Given the description of an element on the screen output the (x, y) to click on. 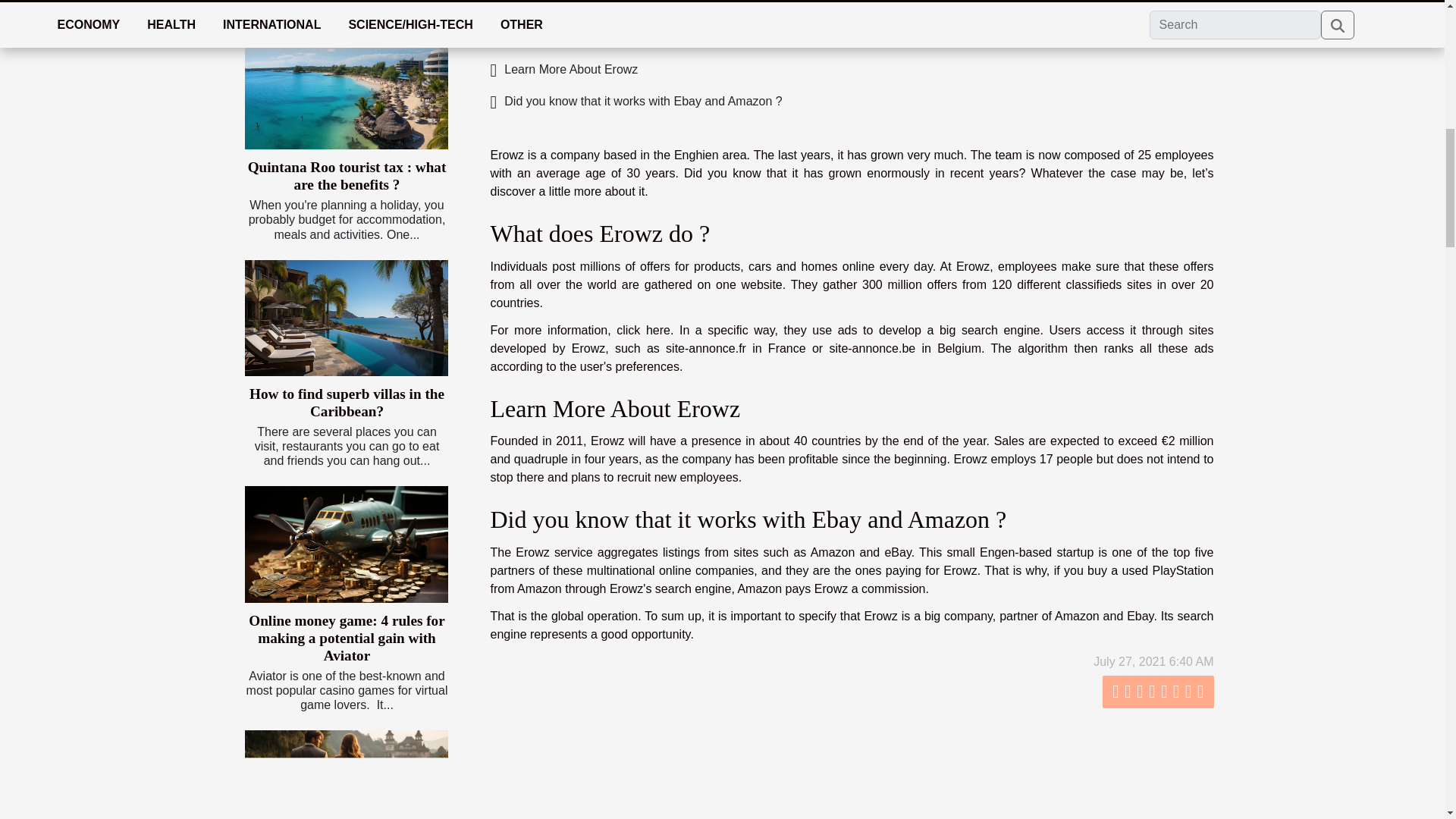
What does Erowz do ? (557, 37)
Quintana Roo tourist tax : what are the benefits ? (345, 91)
Did you know that it works with Ebay and Amazon ? (635, 101)
How to find superb villas in the Caribbean? (346, 402)
Learn More About Erowz (563, 69)
Quintana Roo tourist tax : what are the benefits ? (346, 175)
Top 4 most beautiful countries for your wedding (345, 774)
Quintana Roo tourist tax : what are the benefits ? (346, 175)
How to find superb villas in the Caribbean? (346, 402)
